Given the description of an element on the screen output the (x, y) to click on. 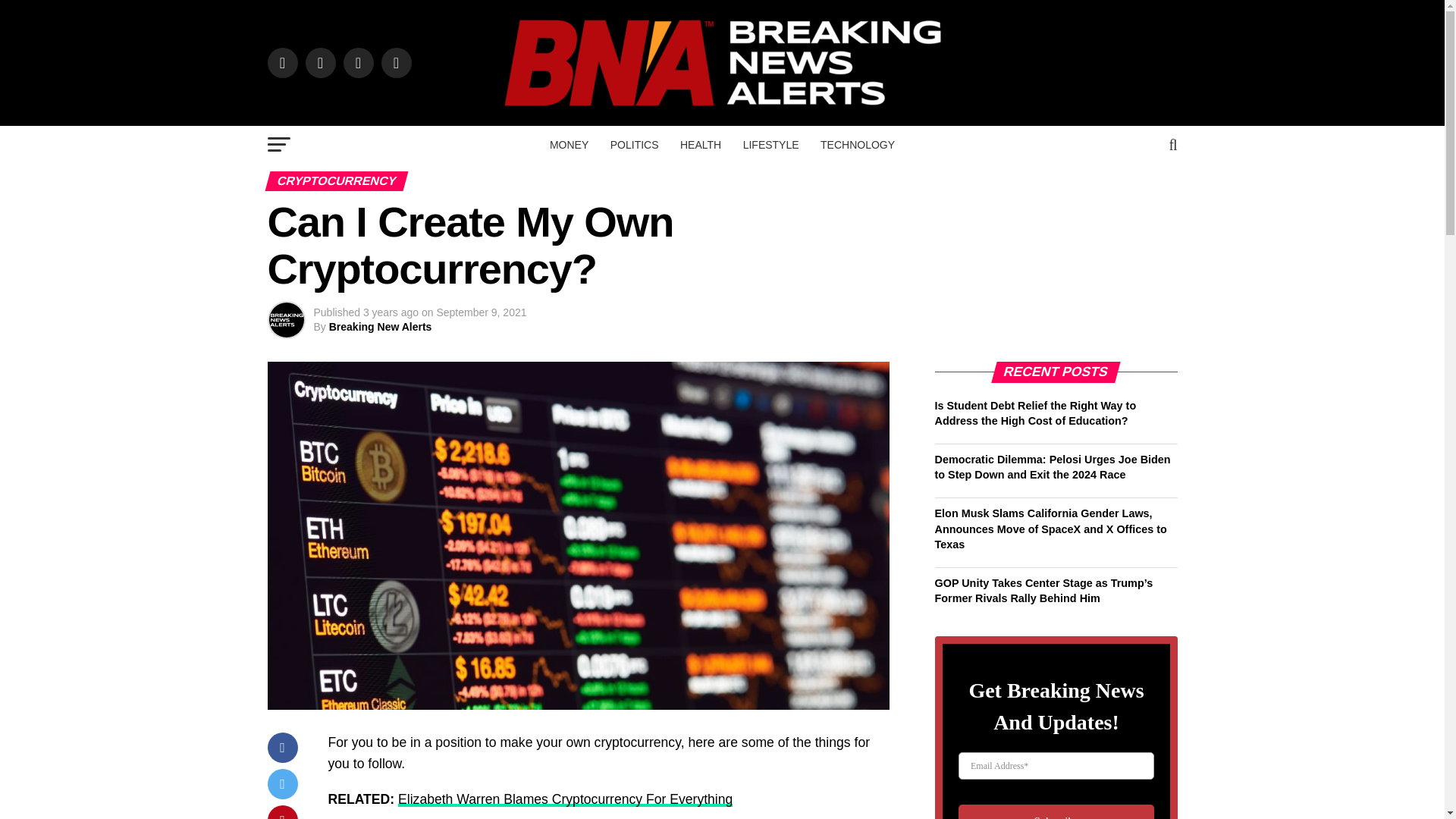
Breaking New Alerts (380, 326)
POLITICS (634, 144)
Site Newsletter (1055, 727)
HEALTH (700, 144)
TECHNOLOGY (857, 144)
Posts by Breaking New Alerts (380, 326)
MONEY (568, 144)
LIFESTYLE (770, 144)
Elizabeth Warren Blames Cryptocurrency For Everything (564, 798)
